Given the description of an element on the screen output the (x, y) to click on. 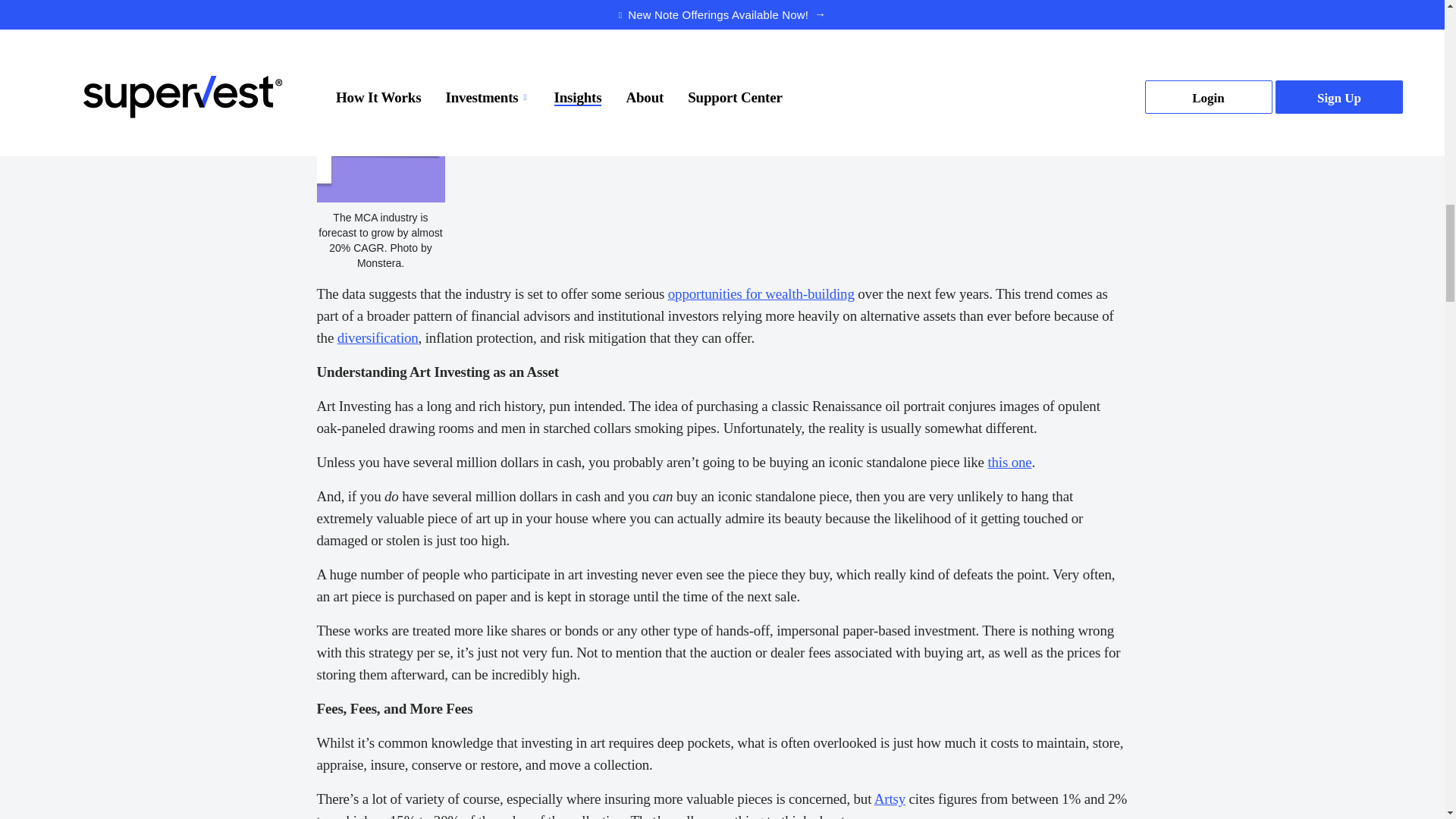
this one (1008, 462)
Artsy (890, 798)
opportunities for wealth-building (761, 293)
diversification (378, 337)
